Given the description of an element on the screen output the (x, y) to click on. 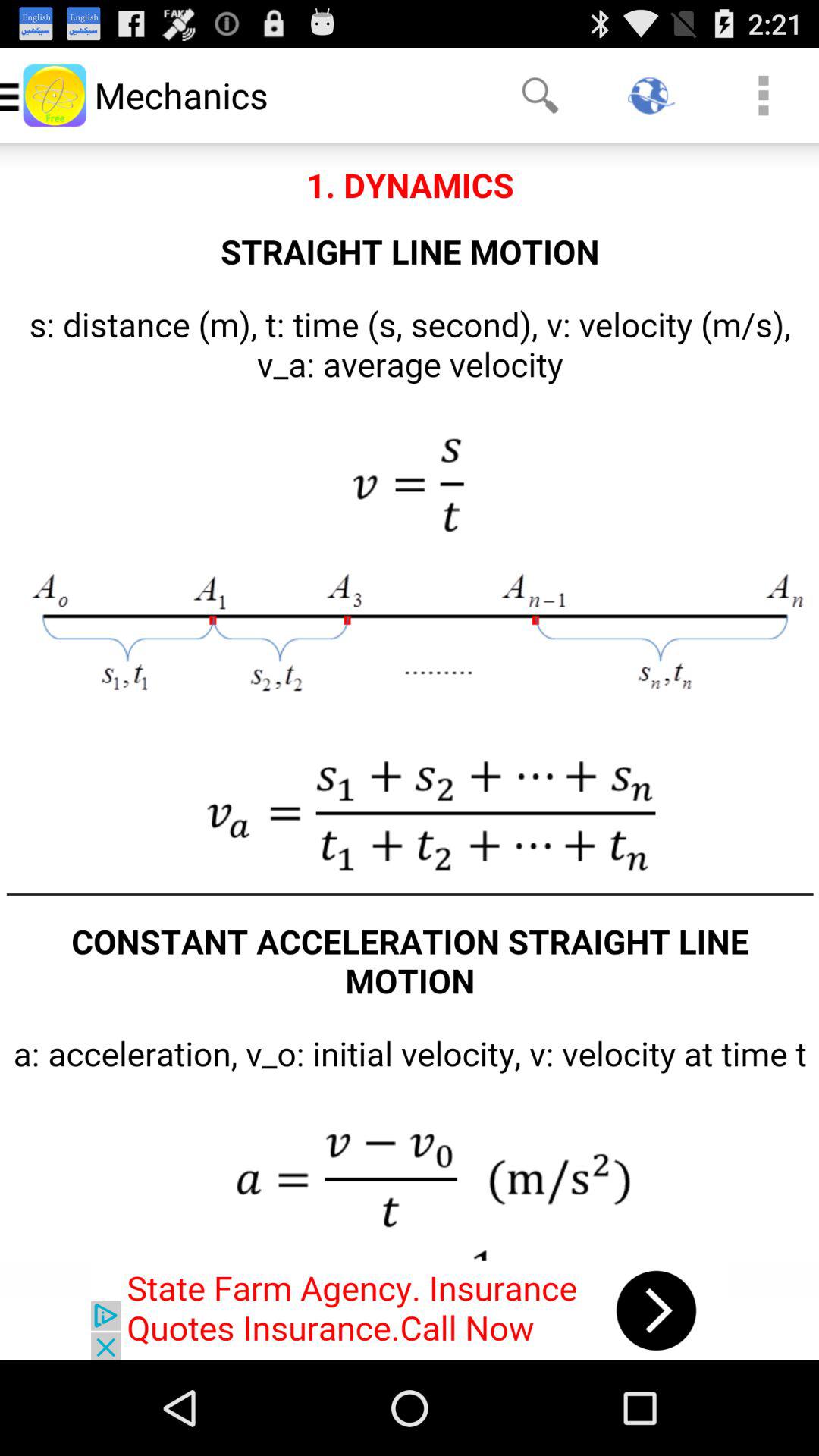
click on advertisement (409, 1310)
